Given the description of an element on the screen output the (x, y) to click on. 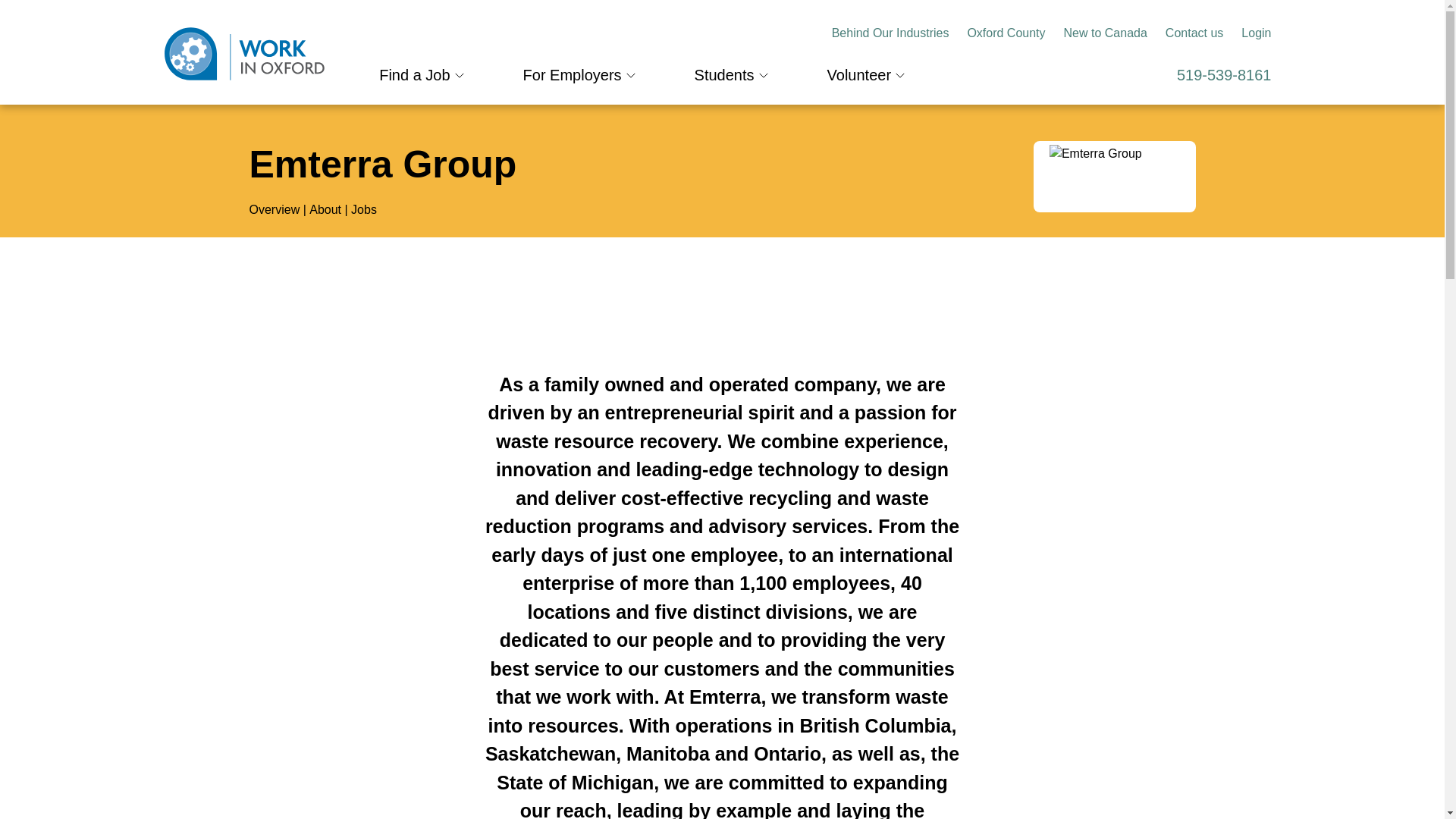
Students (724, 74)
Find a Job (413, 74)
New to Canada (1105, 33)
Login (1256, 33)
show submenu (630, 75)
Contact us (1194, 33)
519-539-8161 (1223, 79)
show submenu (458, 75)
Volunteer (859, 74)
Behind Our Industries (890, 33)
